Given the description of an element on the screen output the (x, y) to click on. 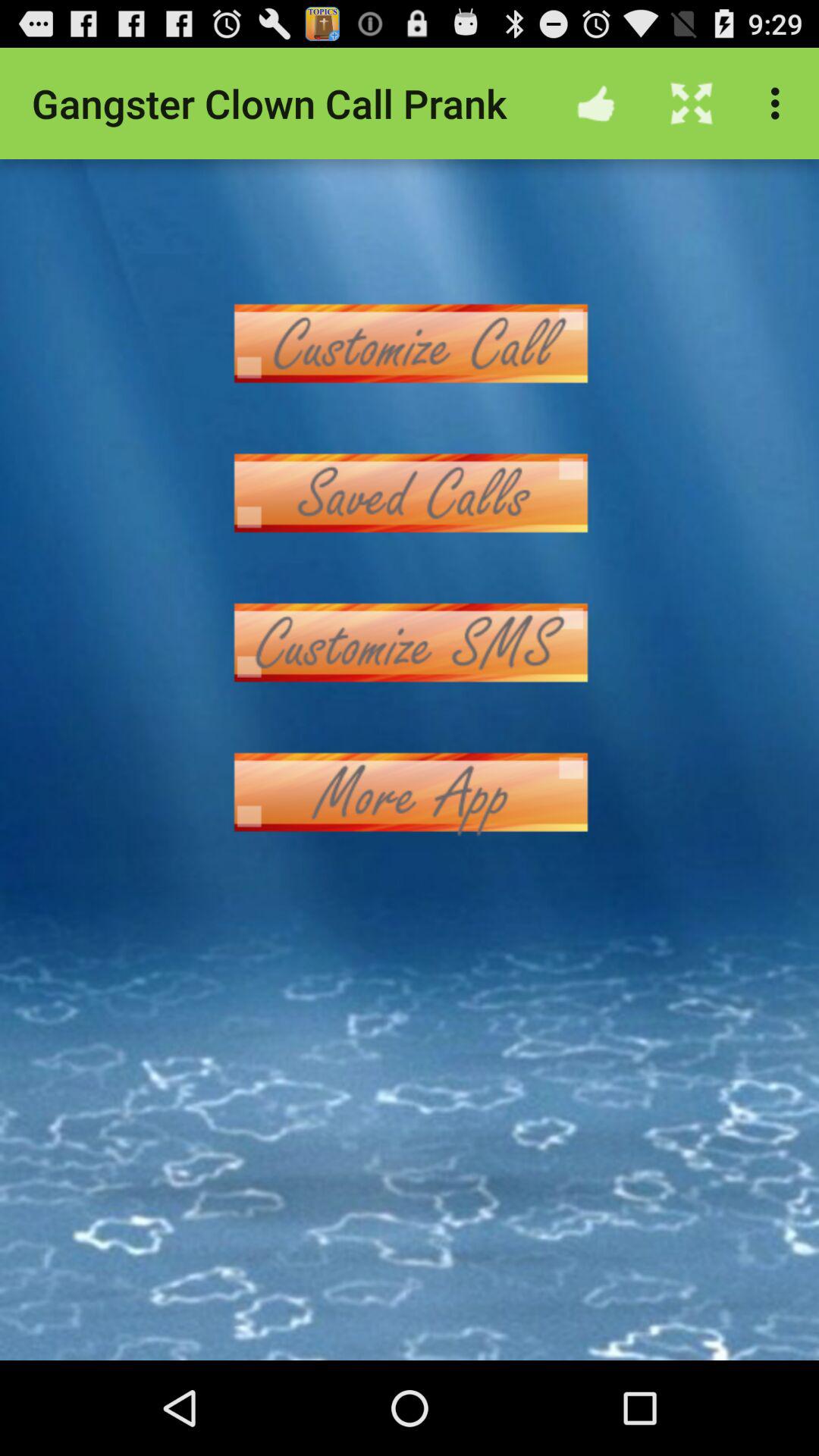
customize sms (409, 642)
